Given the description of an element on the screen output the (x, y) to click on. 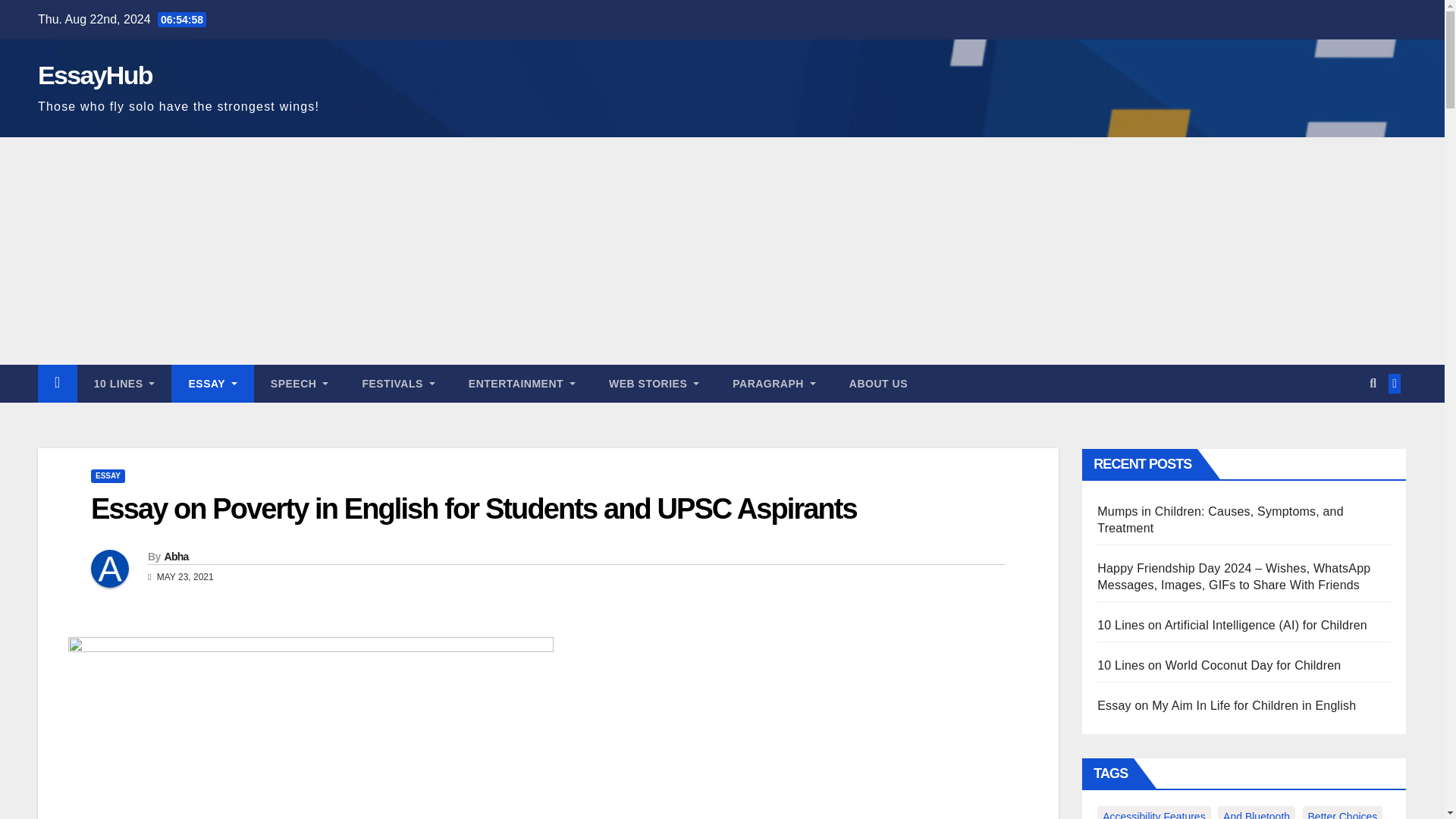
10 LINES (124, 383)
10 LINES (124, 383)
EssayHub (94, 74)
